Given the description of an element on the screen output the (x, y) to click on. 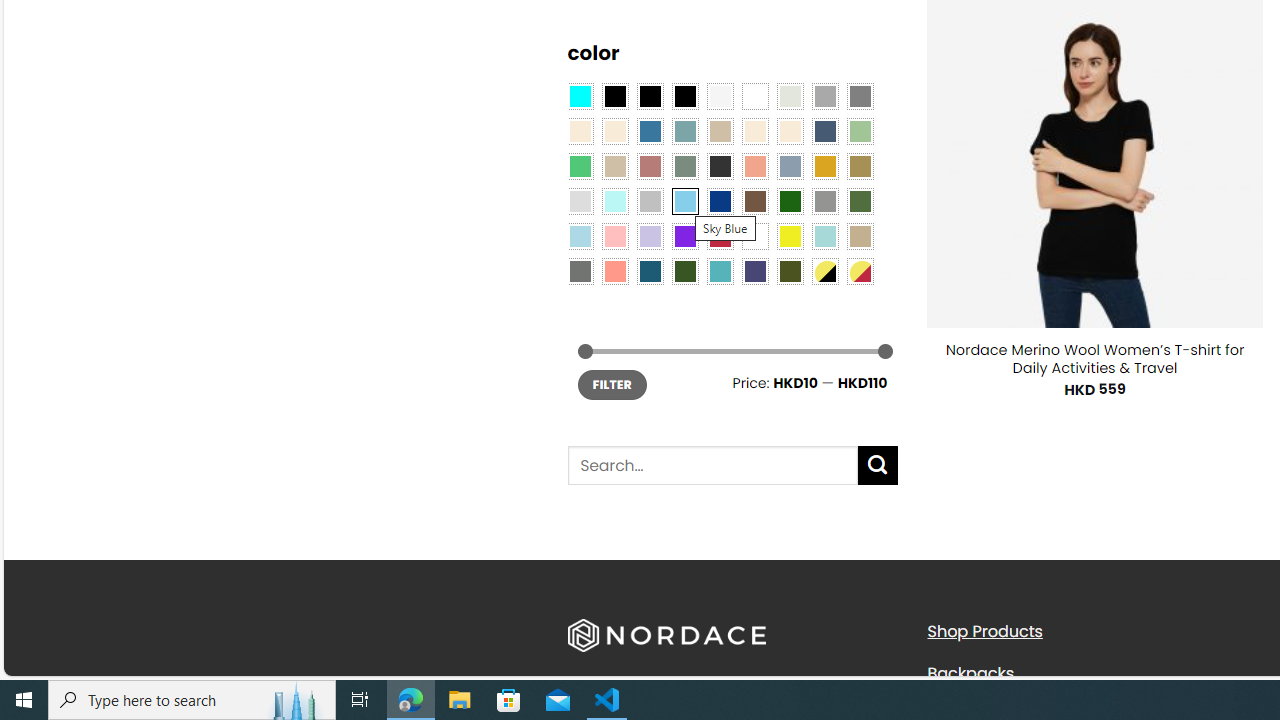
Hale Navy (824, 131)
Pearly White (719, 95)
Purple Navy (755, 270)
Dull Nickle (579, 270)
Pink (614, 236)
Backpacks (970, 672)
Dark Gray (824, 95)
All Gray (859, 95)
Yellow (789, 236)
Ash Gray (789, 95)
Navy Blue (719, 200)
Emerald Green (579, 165)
Teal (719, 270)
Brownie (719, 131)
All Black (614, 95)
